Given the description of an element on the screen output the (x, y) to click on. 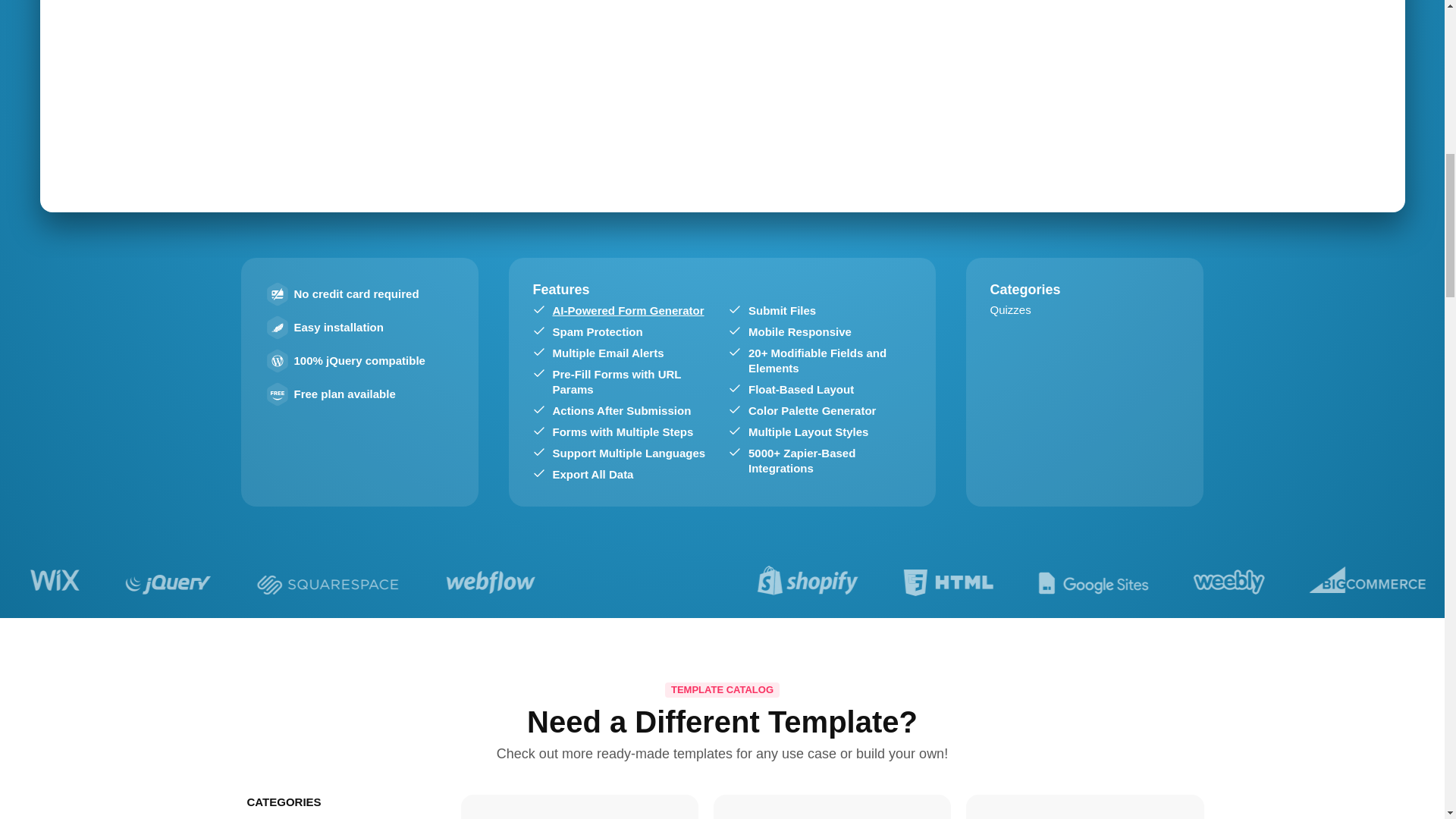
Multiple Choice Quiz (579, 811)
Drag And Drop Quiz (1084, 811)
Image Upload Quiz (832, 811)
